Given the description of an element on the screen output the (x, y) to click on. 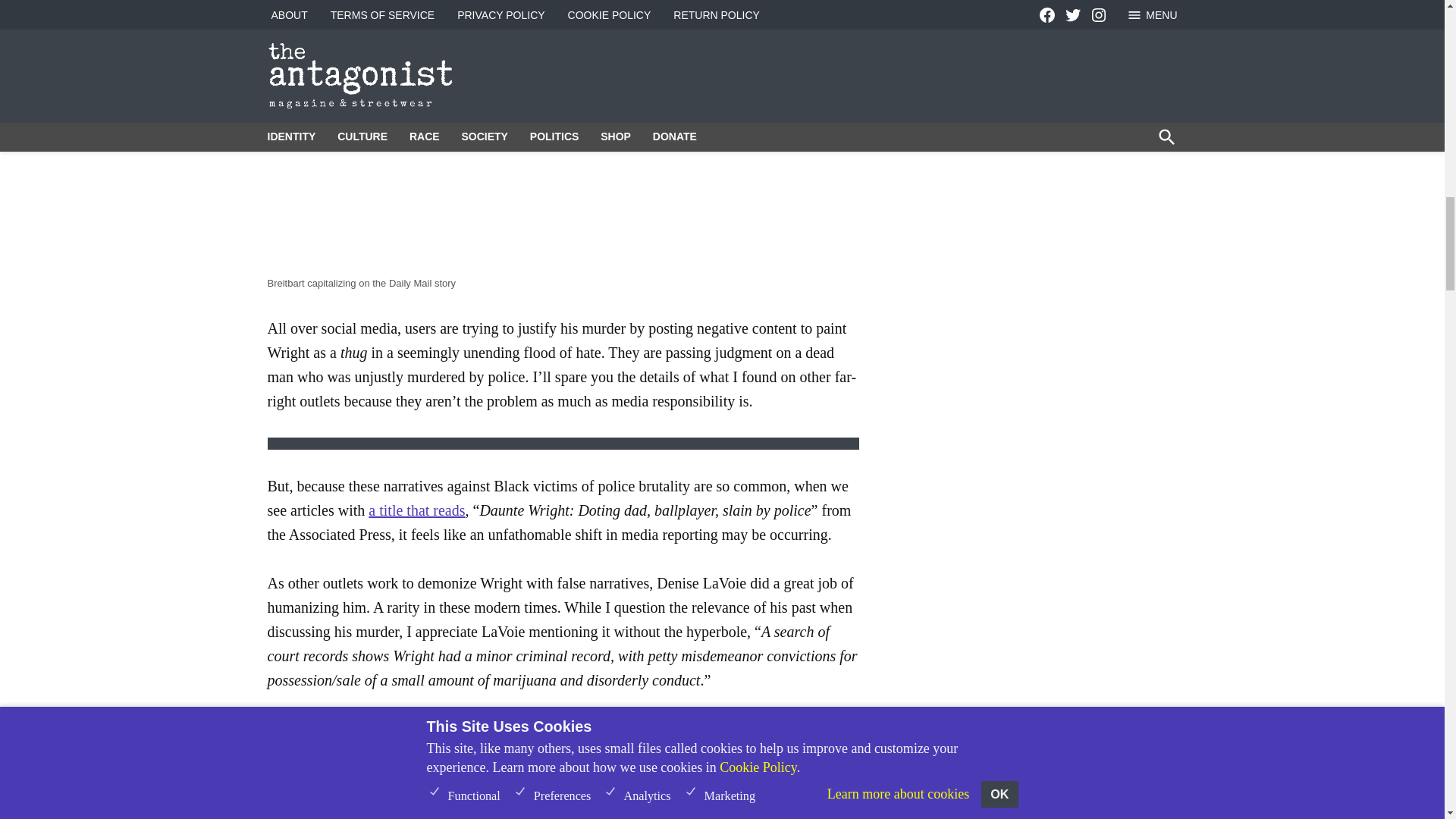
a title that reads (416, 510)
